Given the description of an element on the screen output the (x, y) to click on. 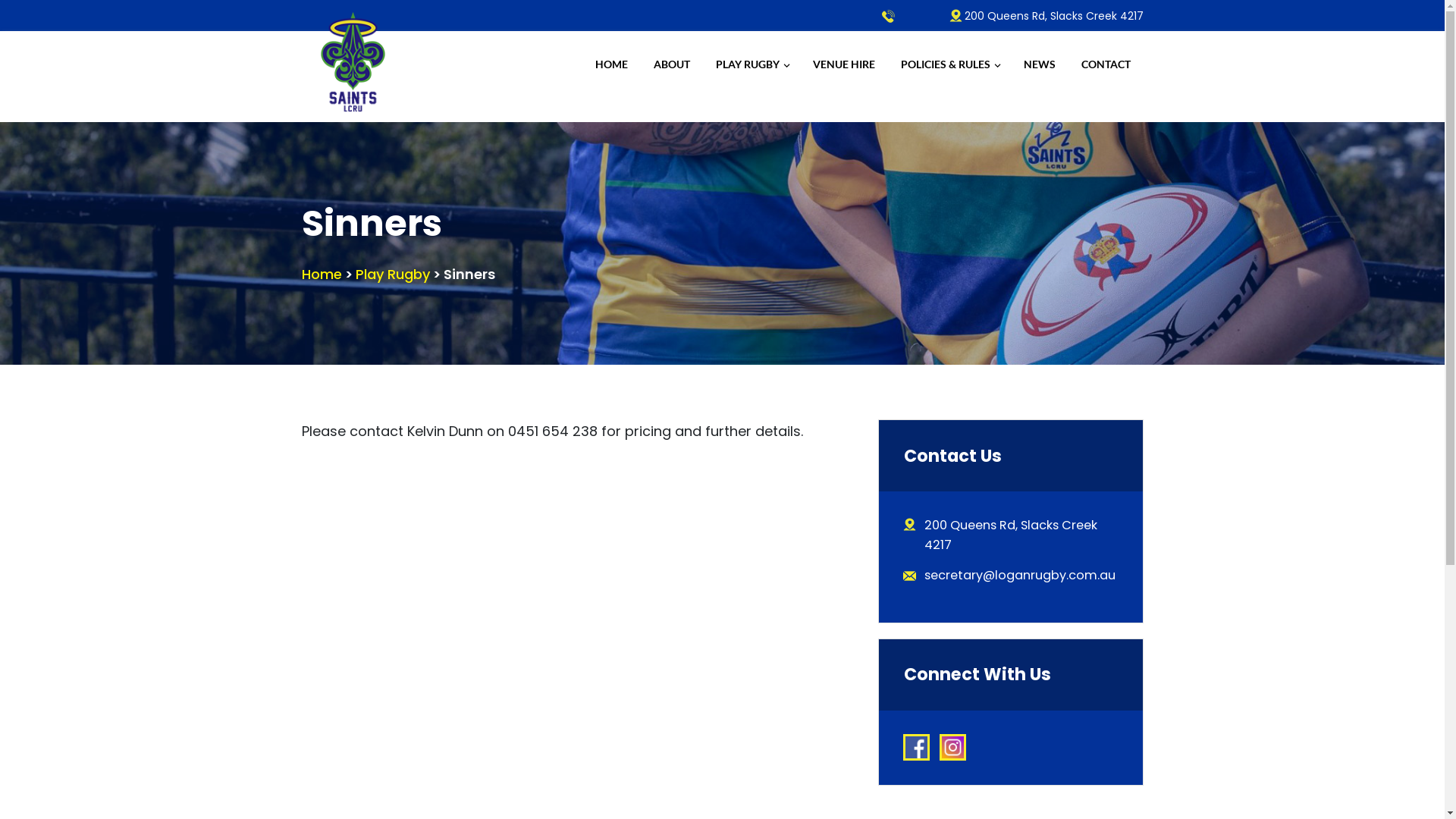
CONTACT Element type: text (1104, 64)
NEWS Element type: text (1038, 64)
Home Element type: text (321, 273)
ABOUT Element type: text (671, 64)
PLAY RUGBY Element type: text (750, 64)
VENUE HIRE Element type: text (843, 64)
HOME Element type: text (611, 64)
POLICIES & RULES Element type: text (948, 64)
secretary@loganrugby.com.au Element type: text (1019, 574)
Play Rugby Element type: text (391, 273)
